Given the description of an element on the screen output the (x, y) to click on. 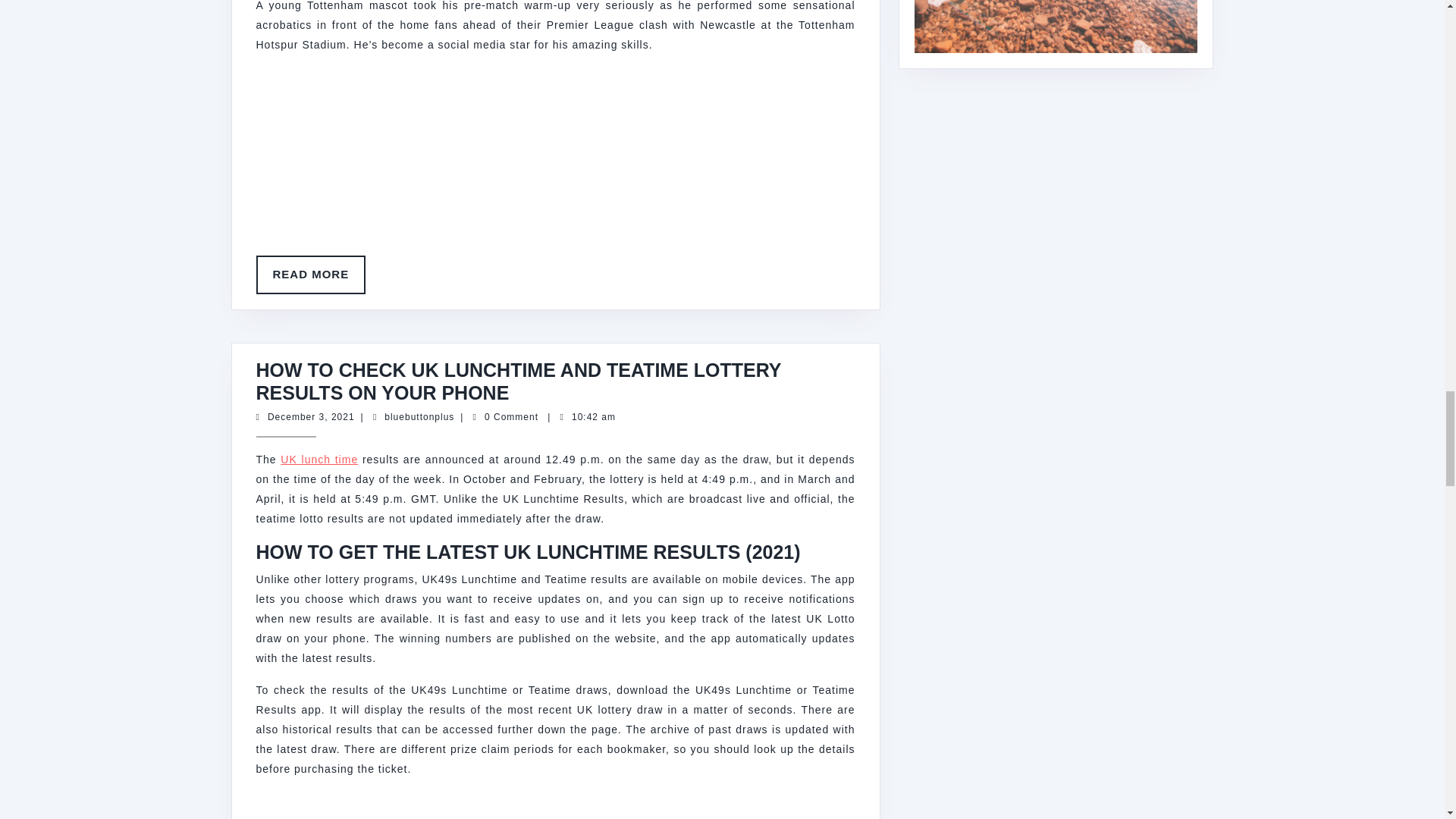
UK lunch time (311, 416)
